Given the description of an element on the screen output the (x, y) to click on. 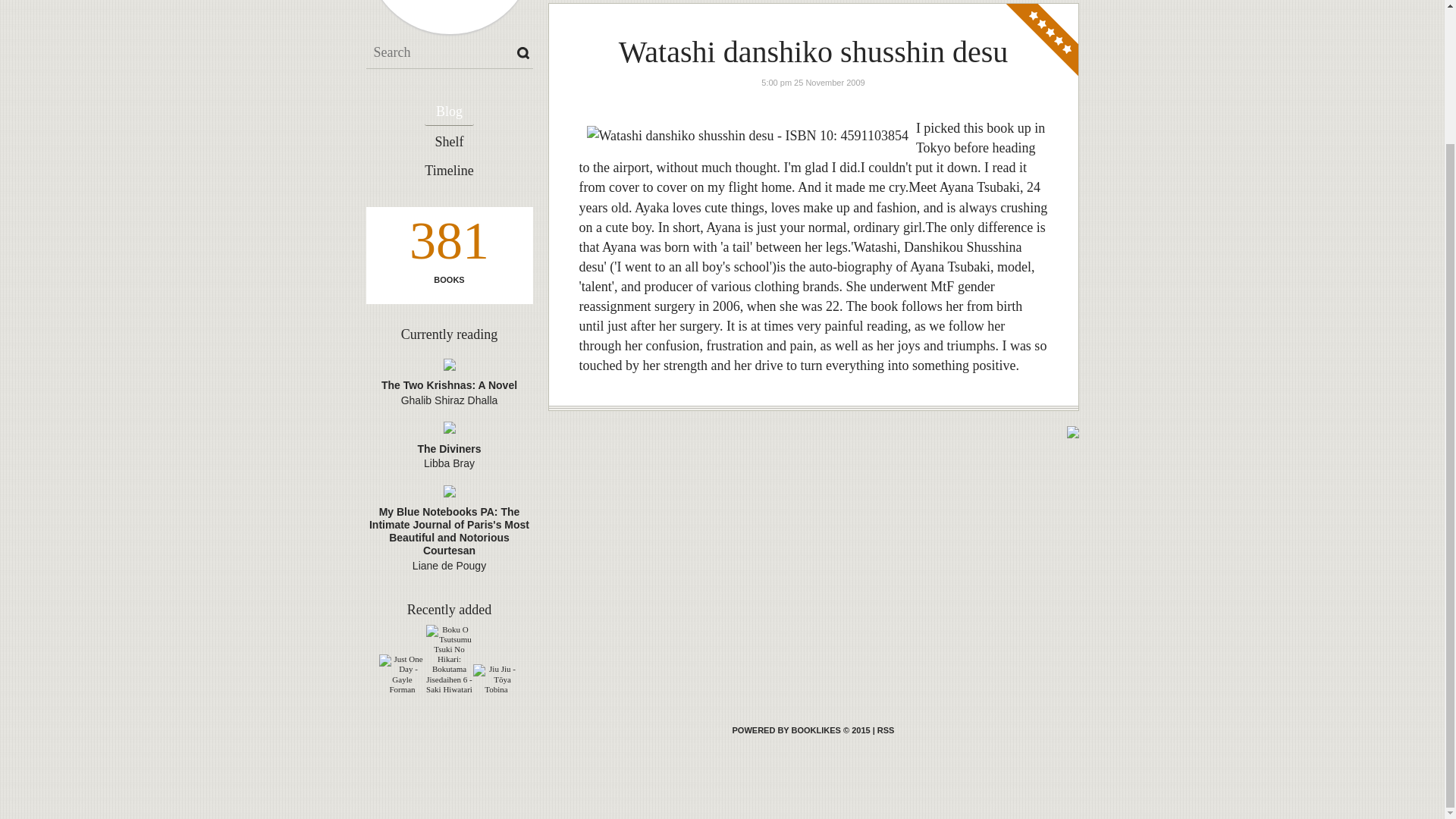
Blog (449, 112)
RSS (886, 729)
BookLikes (801, 729)
Recently added (449, 609)
381 (448, 244)
Shelf (448, 142)
BOOKS (448, 280)
Timeline (448, 171)
Currently reading (449, 334)
Watashi danshiko shusshin desu (812, 51)
